Given the description of an element on the screen output the (x, y) to click on. 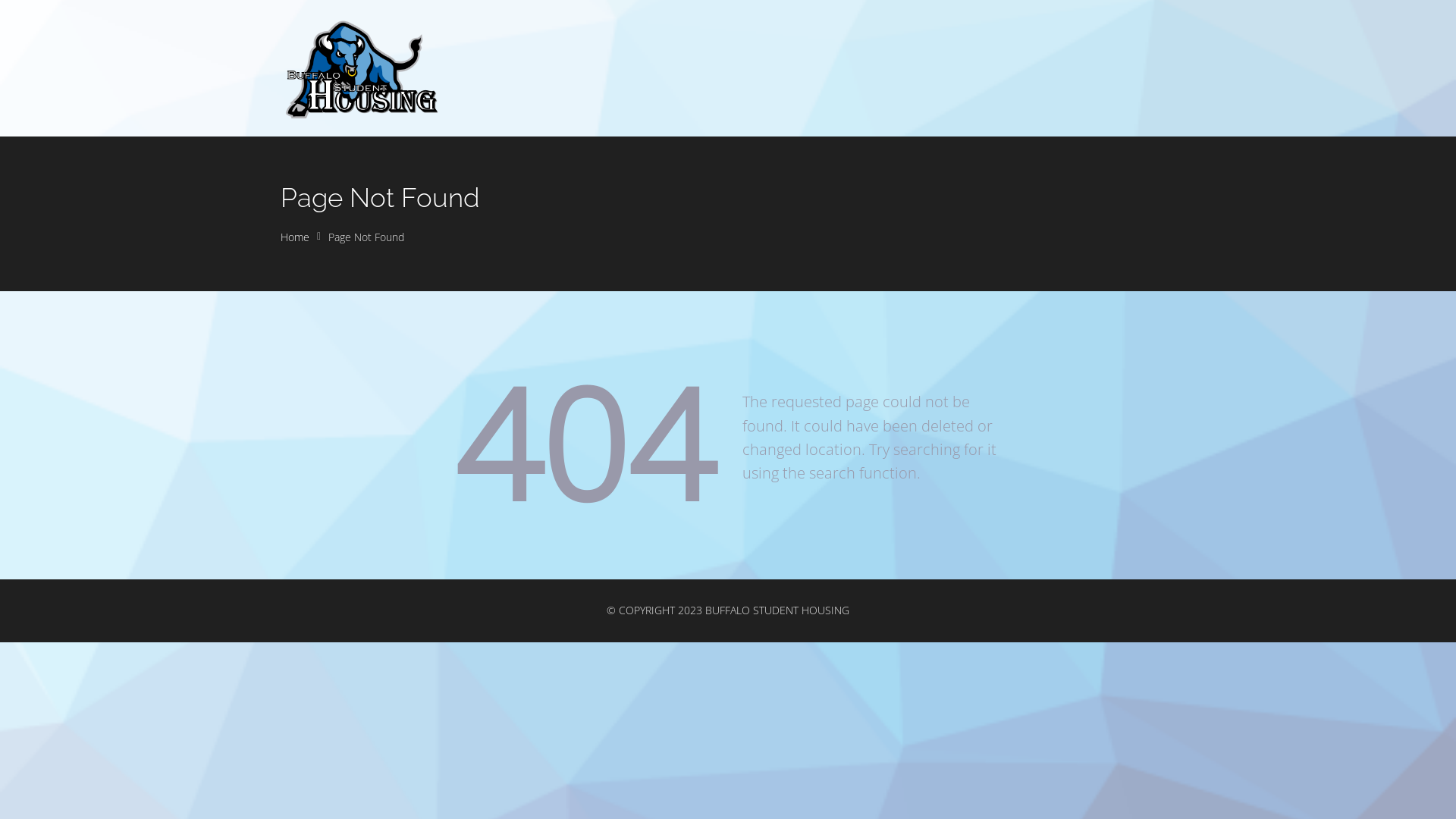
Home Element type: text (294, 236)
